Given the description of an element on the screen output the (x, y) to click on. 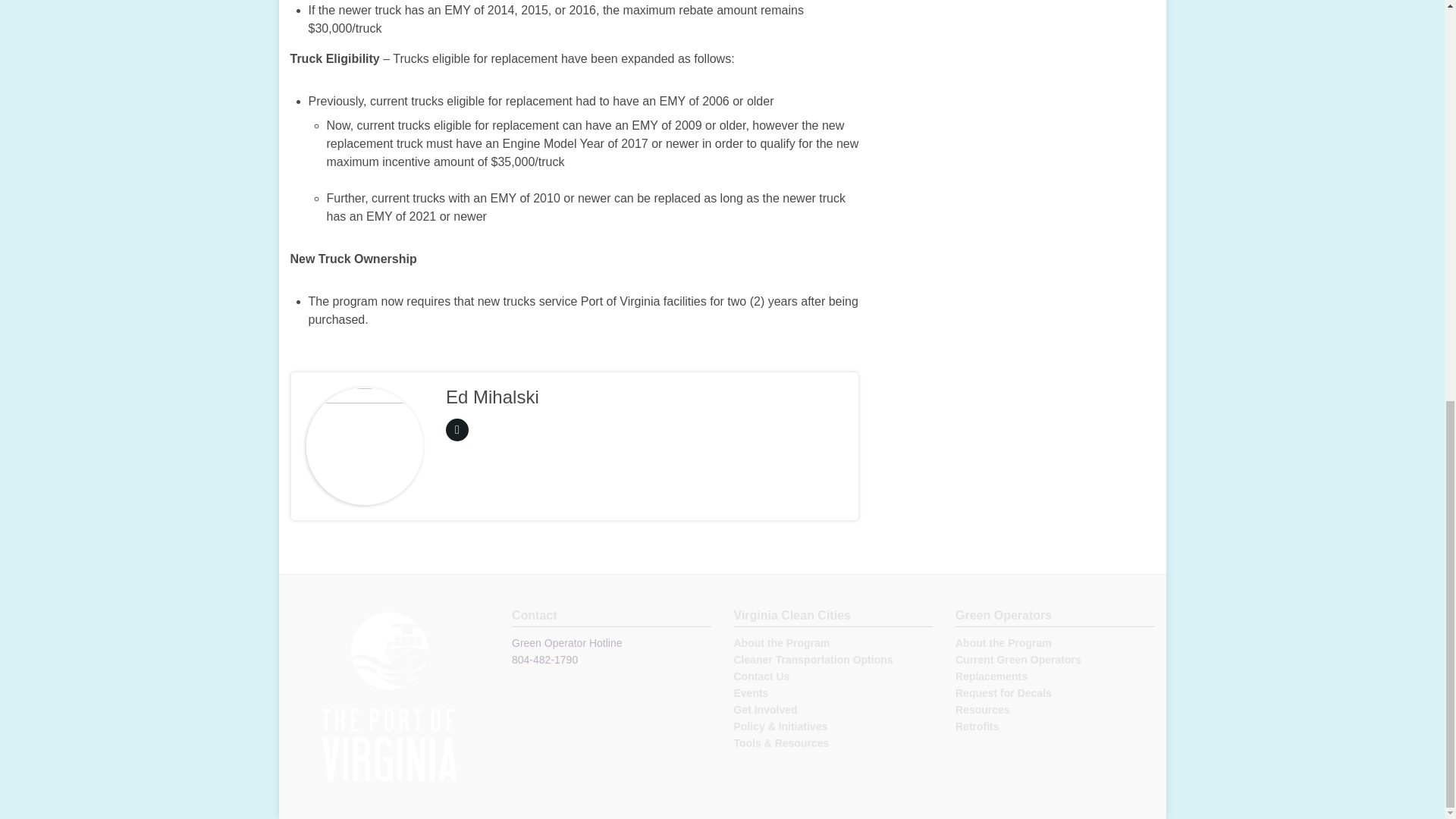
About the Program (781, 643)
About the Program (1003, 643)
Events (750, 693)
Contact Us (761, 676)
Get Involved (765, 709)
Cleaner Transportation Options (813, 659)
